Given the description of an element on the screen output the (x, y) to click on. 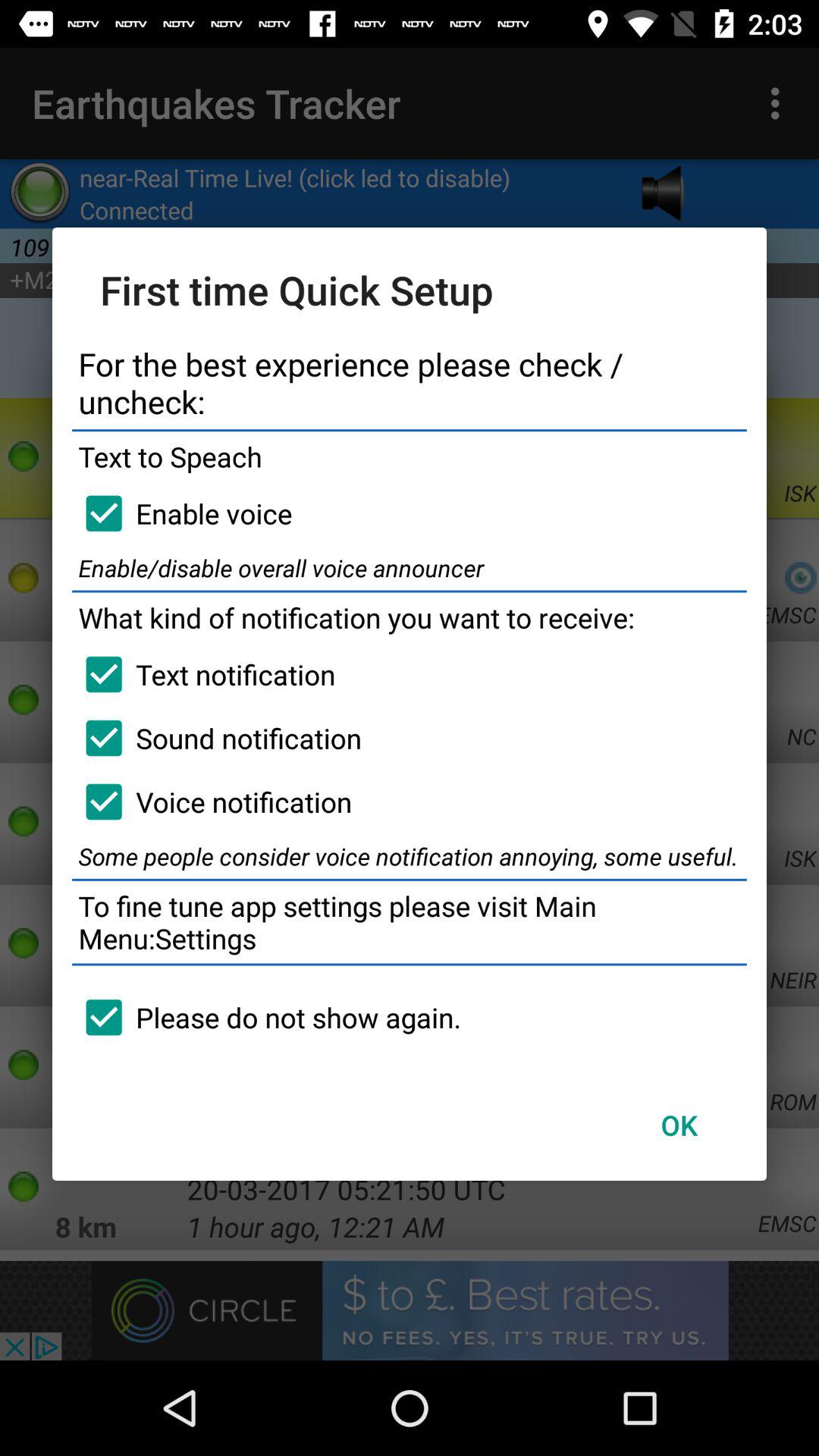
press the ok item (678, 1124)
